Given the description of an element on the screen output the (x, y) to click on. 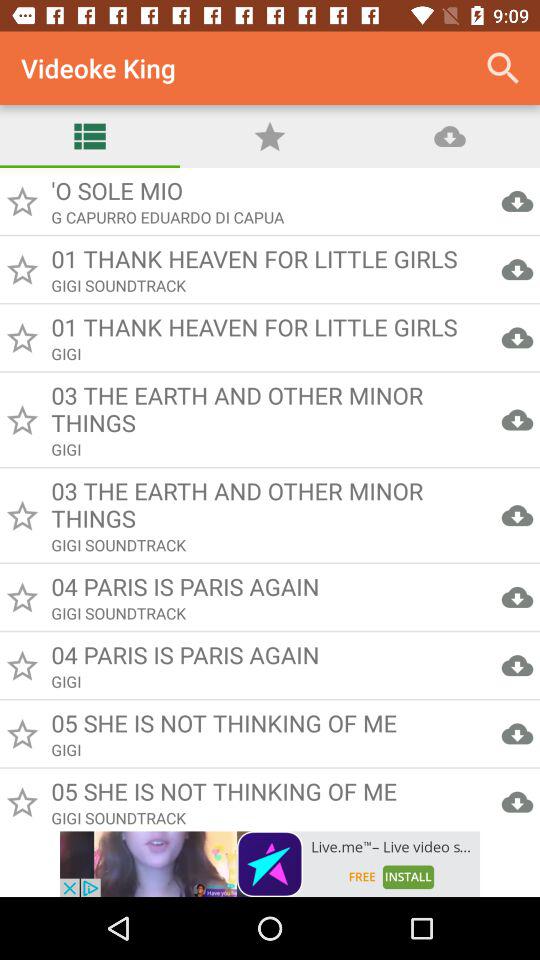
click on advertisement (270, 864)
